Given the description of an element on the screen output the (x, y) to click on. 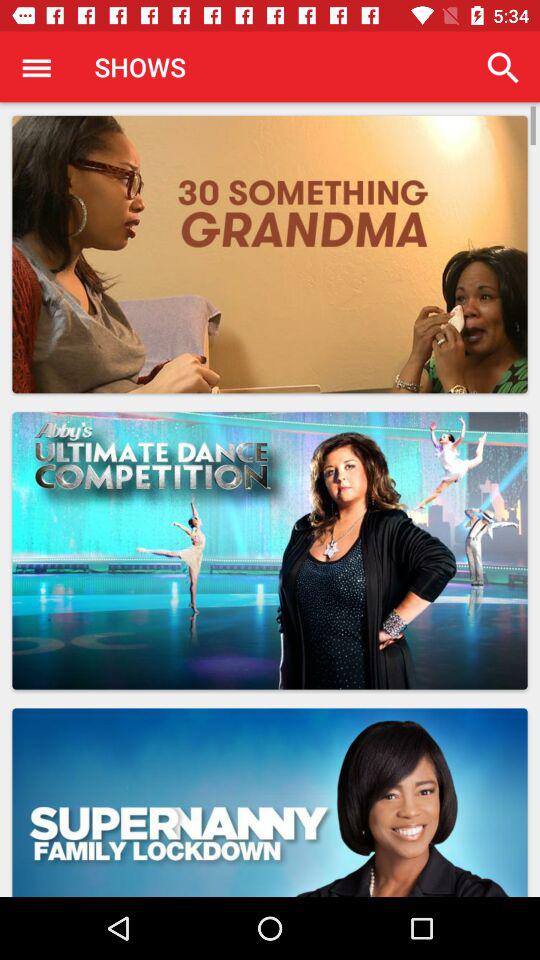
turn on the icon next to shows app (503, 67)
